Given the description of an element on the screen output the (x, y) to click on. 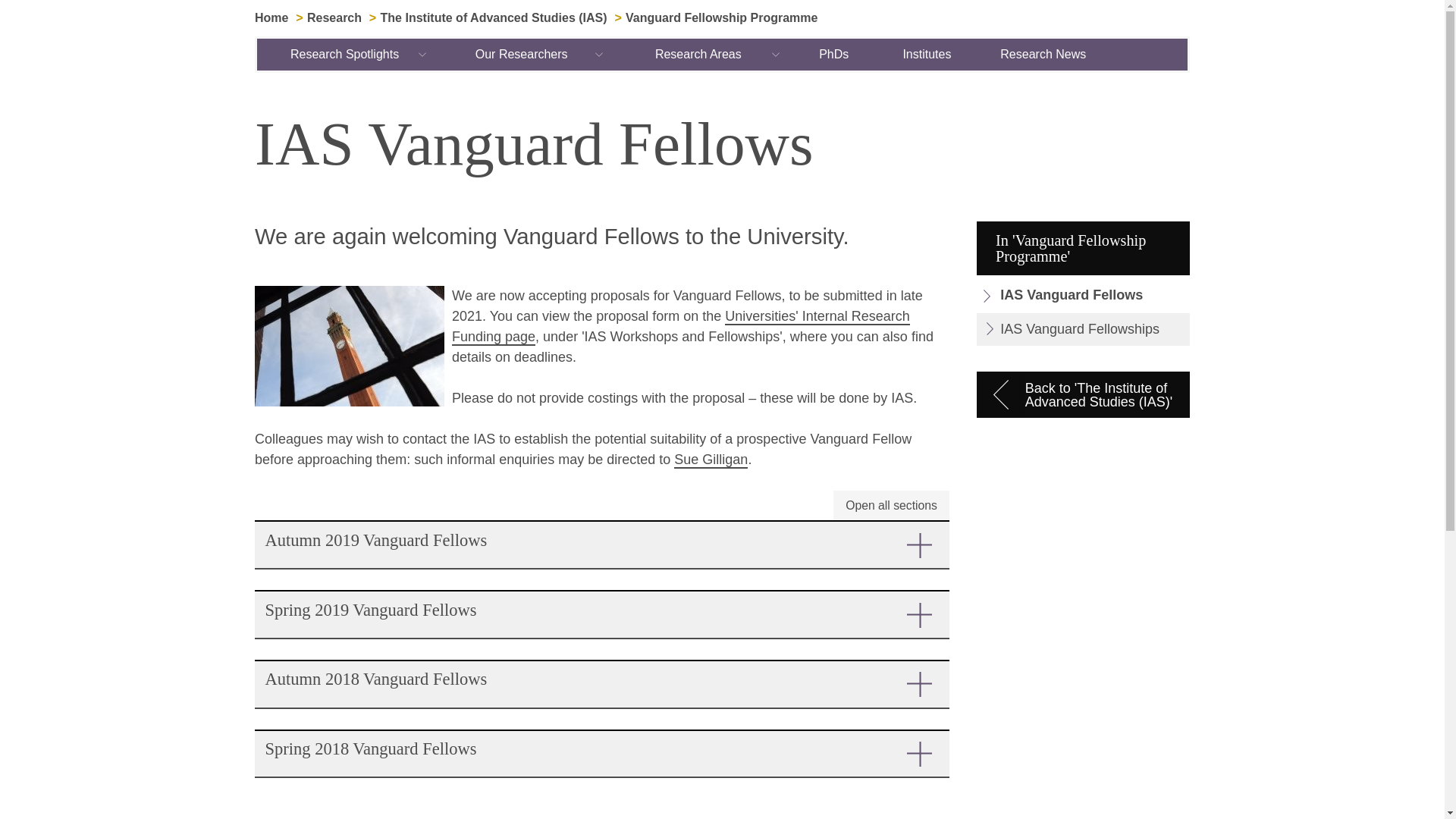
Our Researchers (521, 54)
Research Areas (698, 54)
Vanguard Fellowship Programme (721, 18)
Research (334, 18)
Research Spotlights (345, 54)
Home (271, 18)
